Given the description of an element on the screen output the (x, y) to click on. 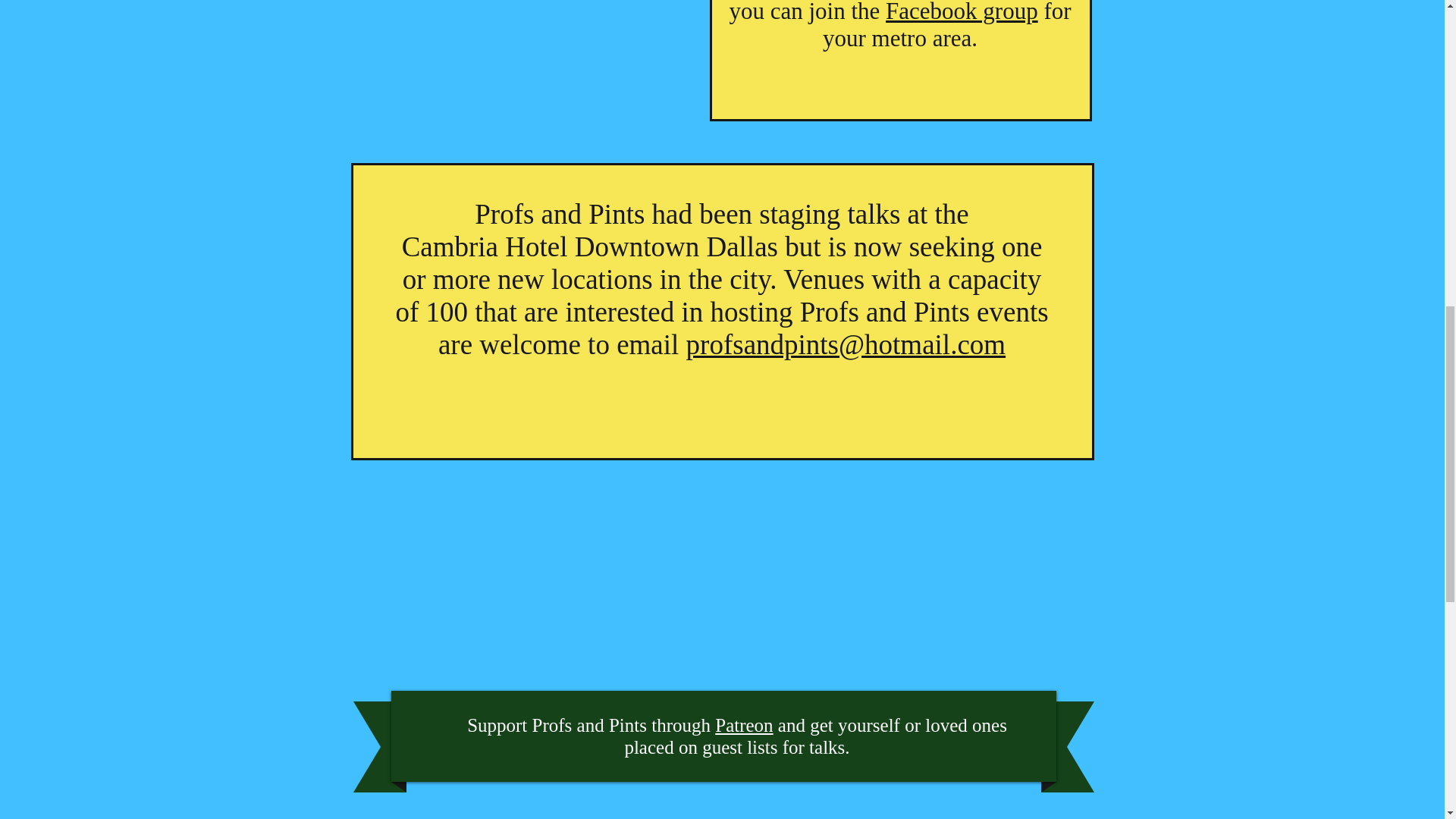
Facebook group (961, 12)
Patreon (743, 724)
